Given the description of an element on the screen output the (x, y) to click on. 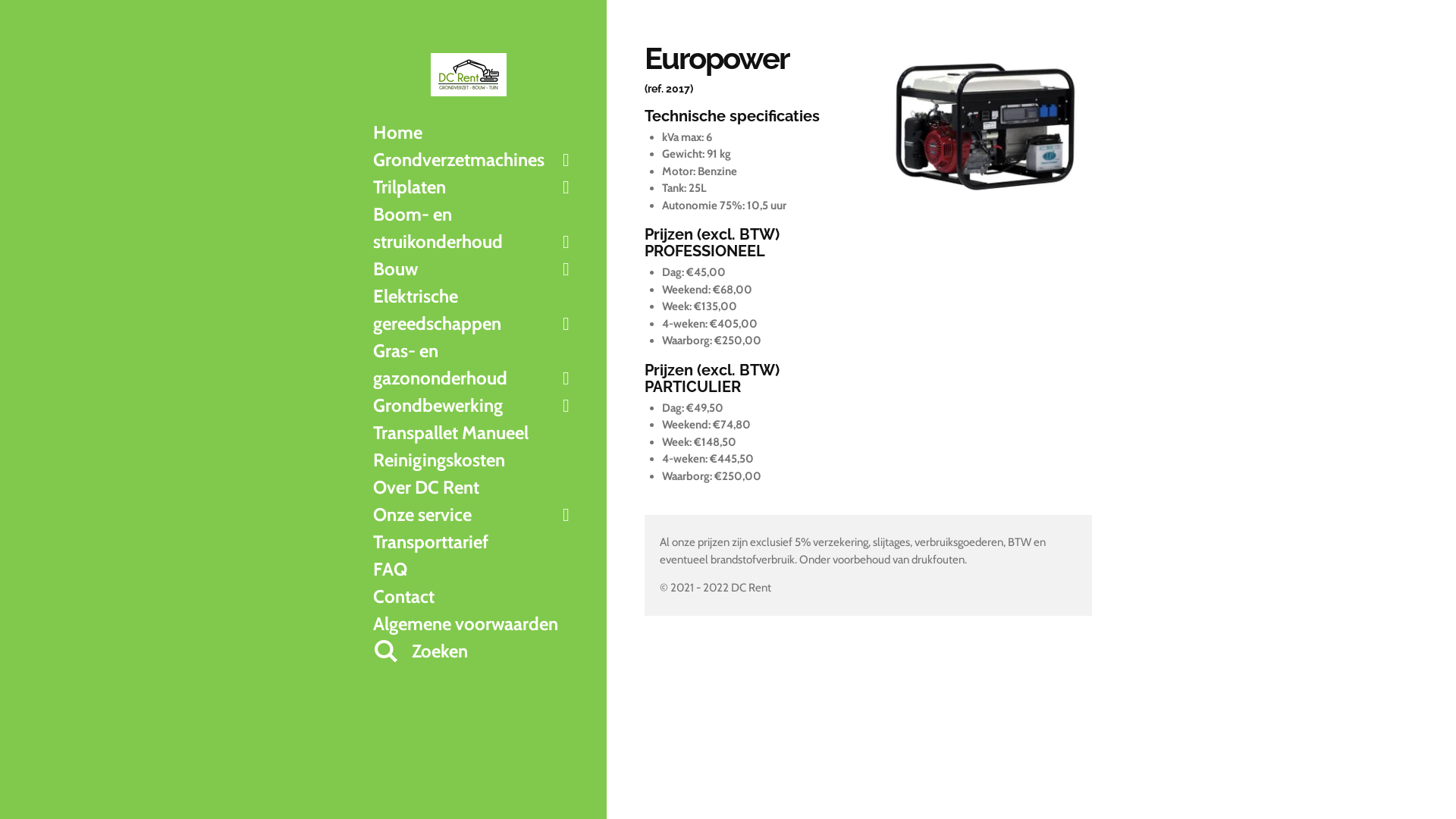
Contact Element type: text (473, 596)
Onze service Element type: text (473, 514)
FAQ Element type: text (473, 569)
Bouw Element type: text (473, 268)
Elektrische gereedschappen Element type: text (473, 309)
Gras- en gazononderhoud Element type: text (473, 364)
Boom- en struikonderhoud Element type: text (473, 227)
Grondverzetmachines Element type: text (473, 159)
Zoeken Element type: text (473, 651)
Grondbewerking Element type: text (473, 405)
Transporttarief Element type: text (473, 541)
Reinigingskosten Element type: text (473, 459)
Over DC Rent Element type: text (473, 487)
Trilplaten Element type: text (473, 186)
Algemene voorwaarden Element type: text (473, 623)
DC Rent Element type: hover (468, 74)
Transpallet Manueel Element type: text (473, 432)
Home Element type: text (473, 132)
